Given the description of an element on the screen output the (x, y) to click on. 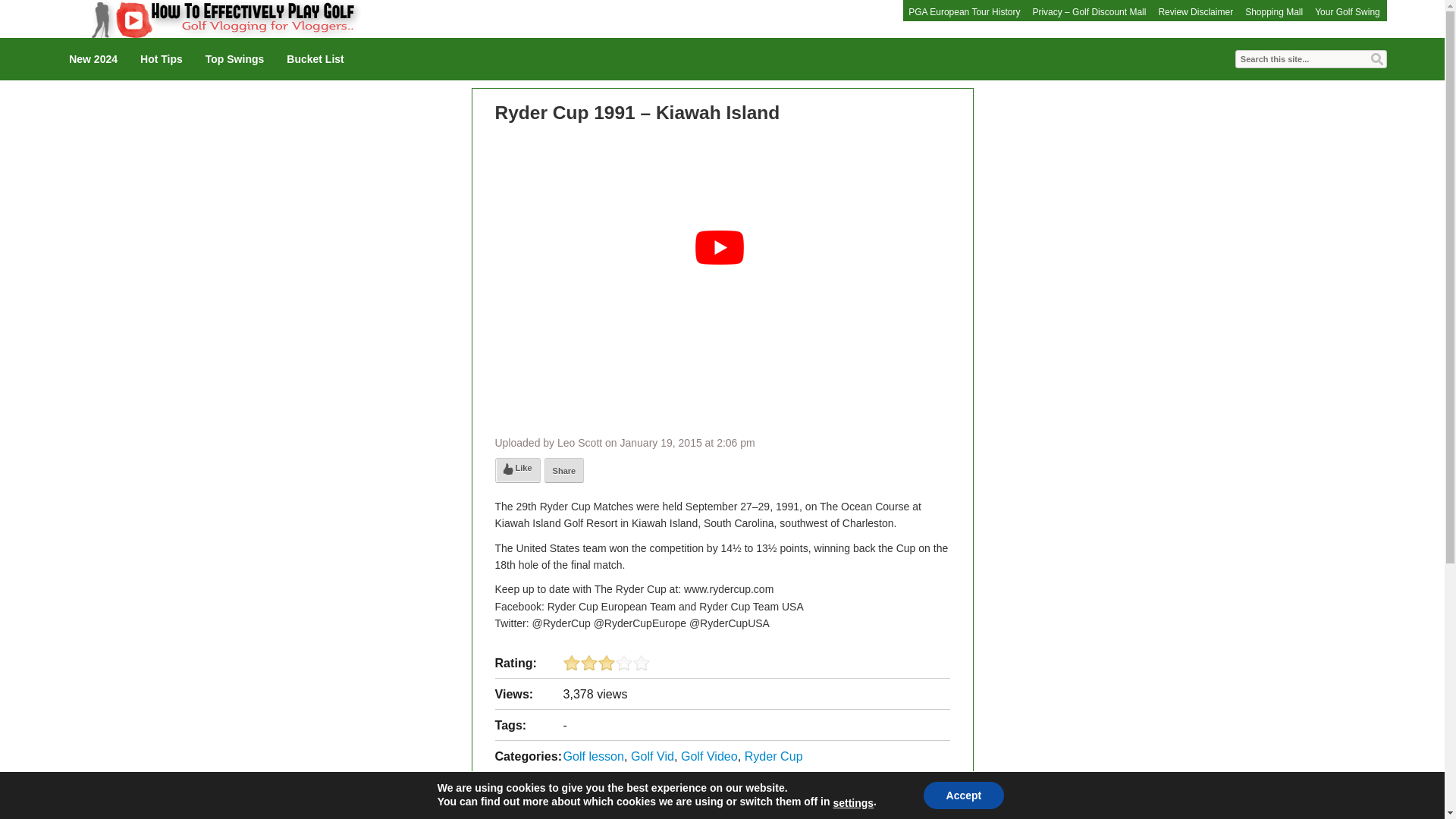
New 2024 (92, 58)
New 2024 (92, 58)
Top Swings (234, 58)
Ryder Cup (773, 755)
Golf Video (709, 755)
Review Disclaimer (1195, 12)
How To Effectively Play Golf (209, 18)
Share it with your friends (564, 469)
Hot Tips (161, 58)
Search this site... (1310, 58)
